Given the description of an element on the screen output the (x, y) to click on. 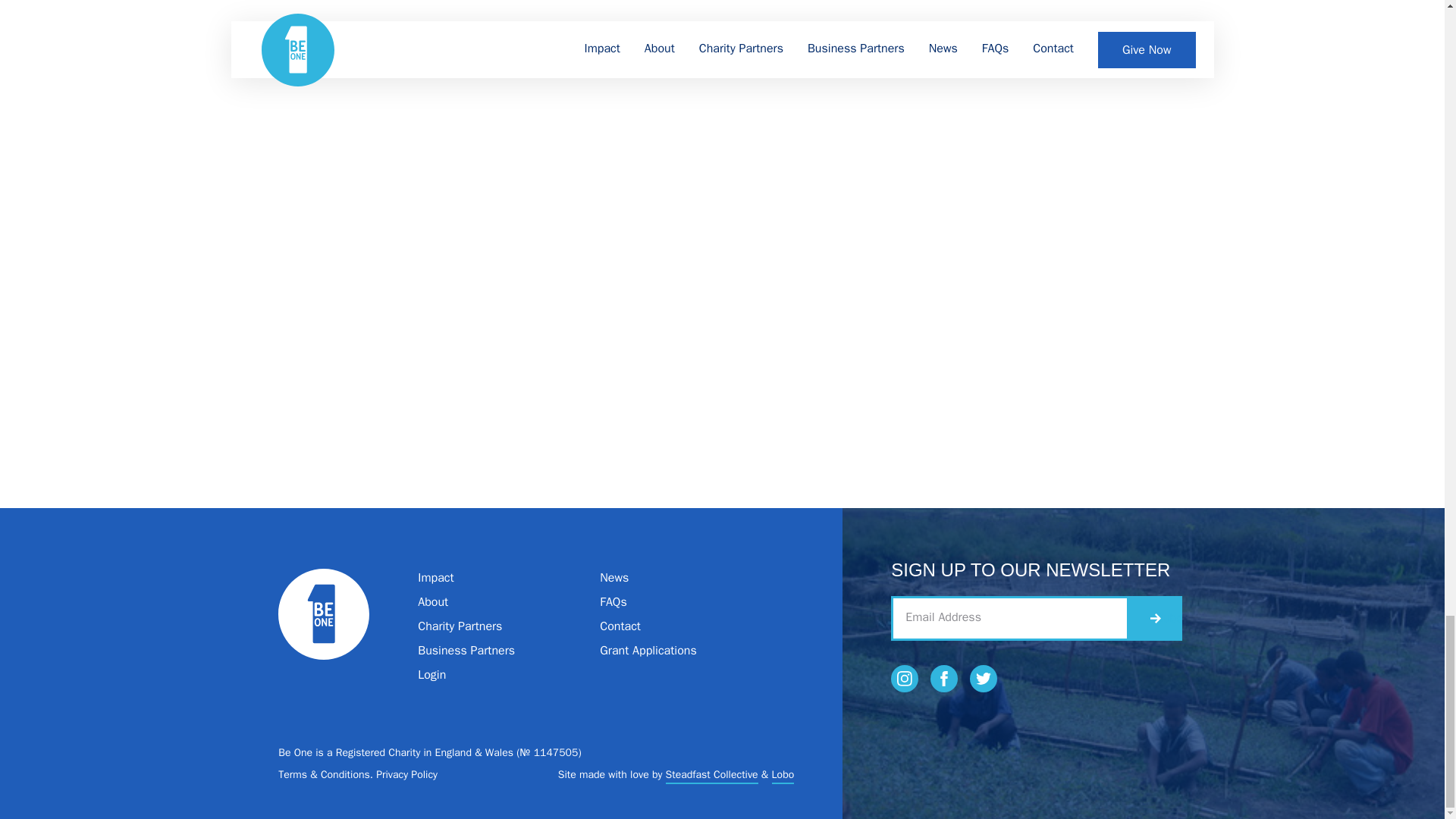
Steadfast Collective (711, 773)
FAQs (612, 601)
Grant Applications (647, 649)
Impact (434, 576)
Business Partners (466, 649)
Charity Partners (459, 625)
Lobo (782, 773)
Subscribe (1155, 617)
Contact (619, 625)
Subscribe (1155, 617)
Privacy Policy (406, 774)
News (613, 576)
About (432, 601)
Login (431, 673)
